Given the description of an element on the screen output the (x, y) to click on. 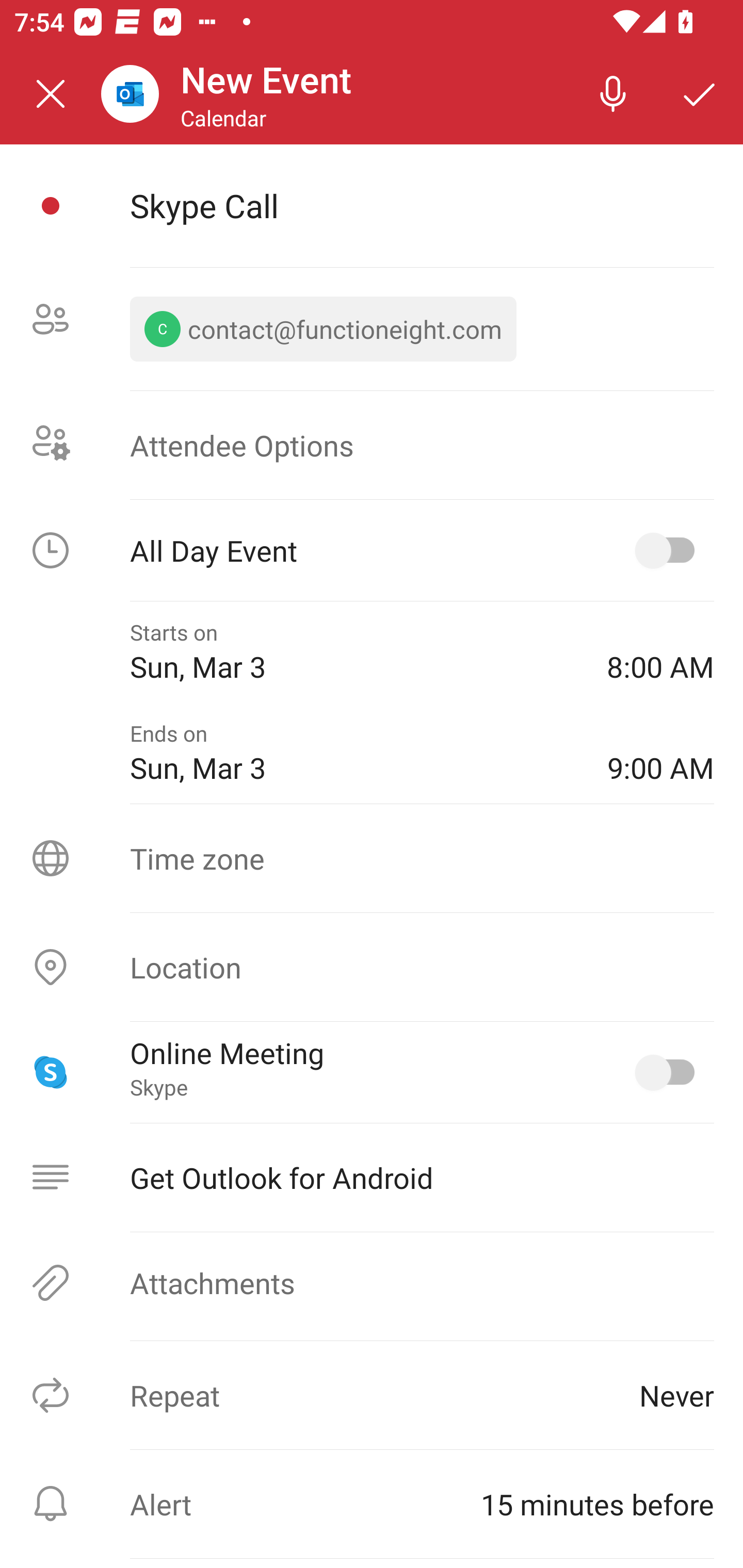
Close (50, 93)
Save (699, 93)
Skype Call (422, 205)
Event icon picker (50, 206)
Attendee Options (371, 444)
All Day Event (371, 550)
Starts on Sun, Mar 3 (353, 652)
8:00 AM (660, 652)
Ends on Sun, Mar 3 (353, 752)
9:00 AM (660, 752)
Time zone (371, 858)
Location (371, 966)
Online Meeting, Skype selected (669, 1072)
Attachments (371, 1282)
Repeat Never (371, 1394)
Alert ⁨15 minutes before (371, 1504)
